Given the description of an element on the screen output the (x, y) to click on. 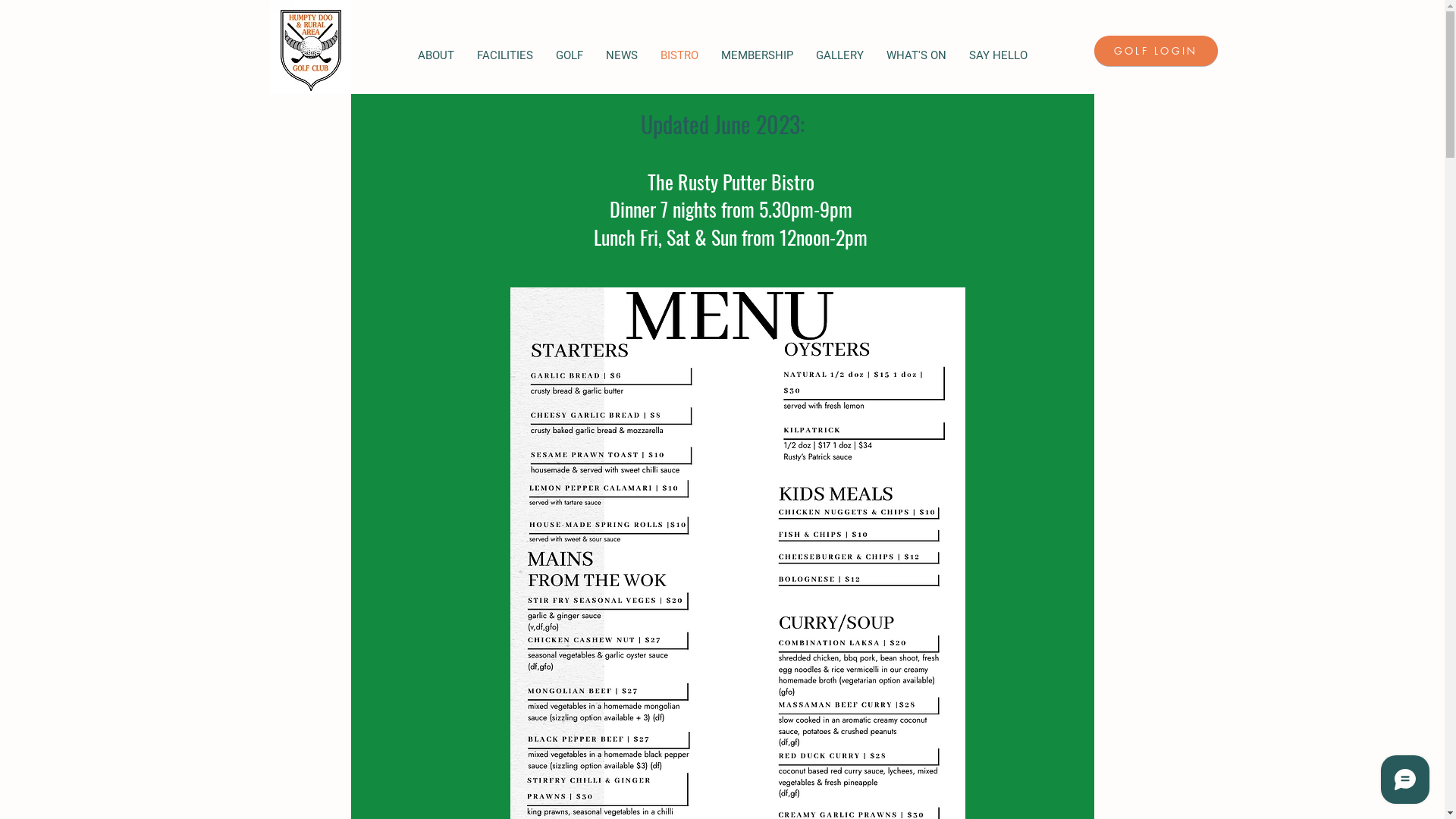
MEMBERSHIP Element type: text (756, 55)
GOLF LOGIN Element type: text (1155, 50)
SAY HELLO Element type: text (997, 55)
FACILITIES Element type: text (504, 55)
WHAT'S ON Element type: text (916, 55)
ABOUT Element type: text (435, 55)
GOLF Element type: text (569, 55)
BISTRO Element type: text (679, 55)
NEWS Element type: text (621, 55)
GALLERY Element type: text (838, 55)
